Given the description of an element on the screen output the (x, y) to click on. 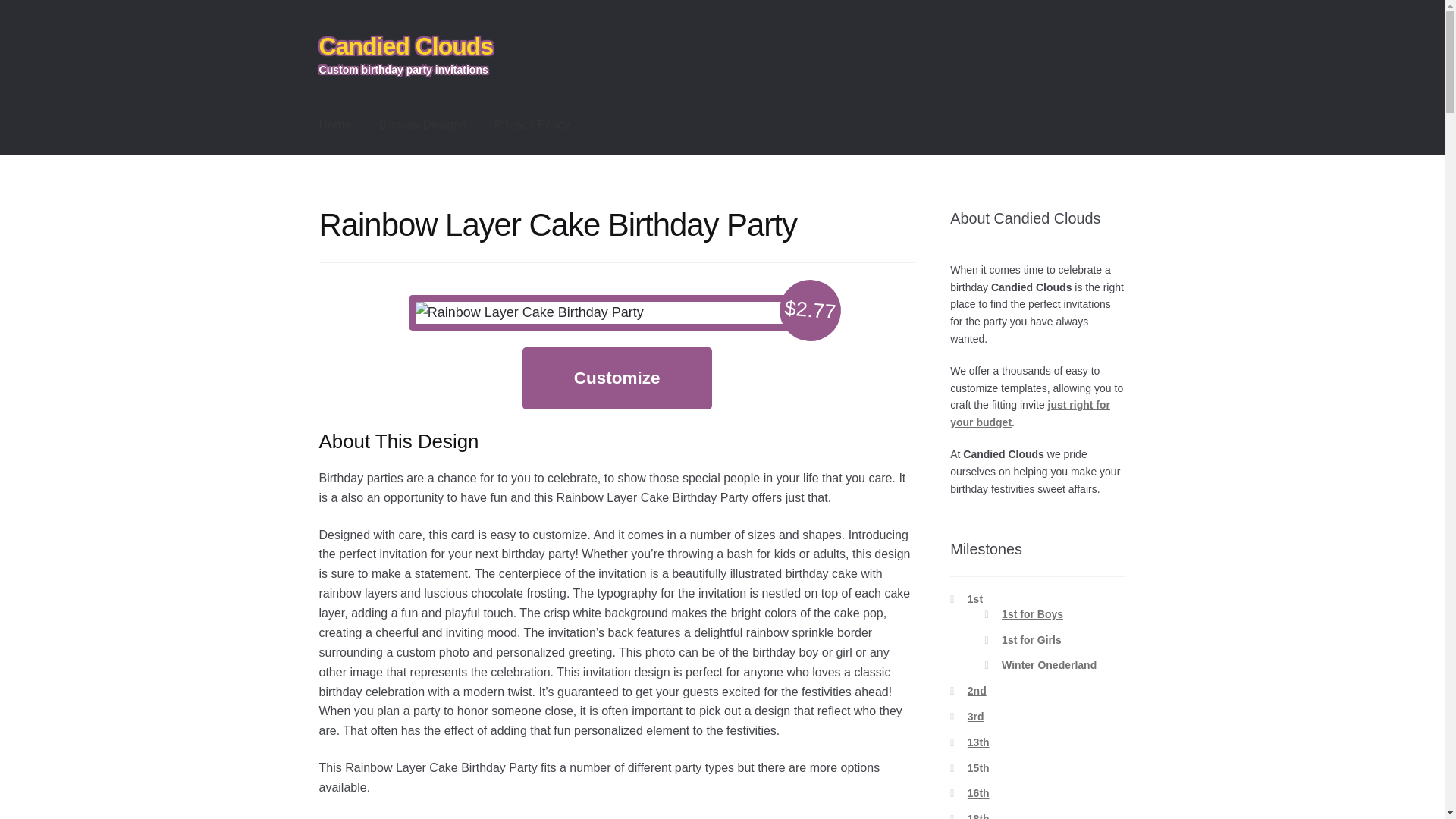
2nd (977, 690)
15th (979, 767)
13th (979, 742)
Winter Onederland (1048, 664)
Privacy Policy (531, 124)
just right for your budget (1029, 413)
Home (335, 124)
1st (975, 598)
1st for Boys (1031, 613)
1st for Girls (1031, 639)
3rd (976, 716)
Browse Designs (422, 124)
Candied Clouds (405, 45)
